Given the description of an element on the screen output the (x, y) to click on. 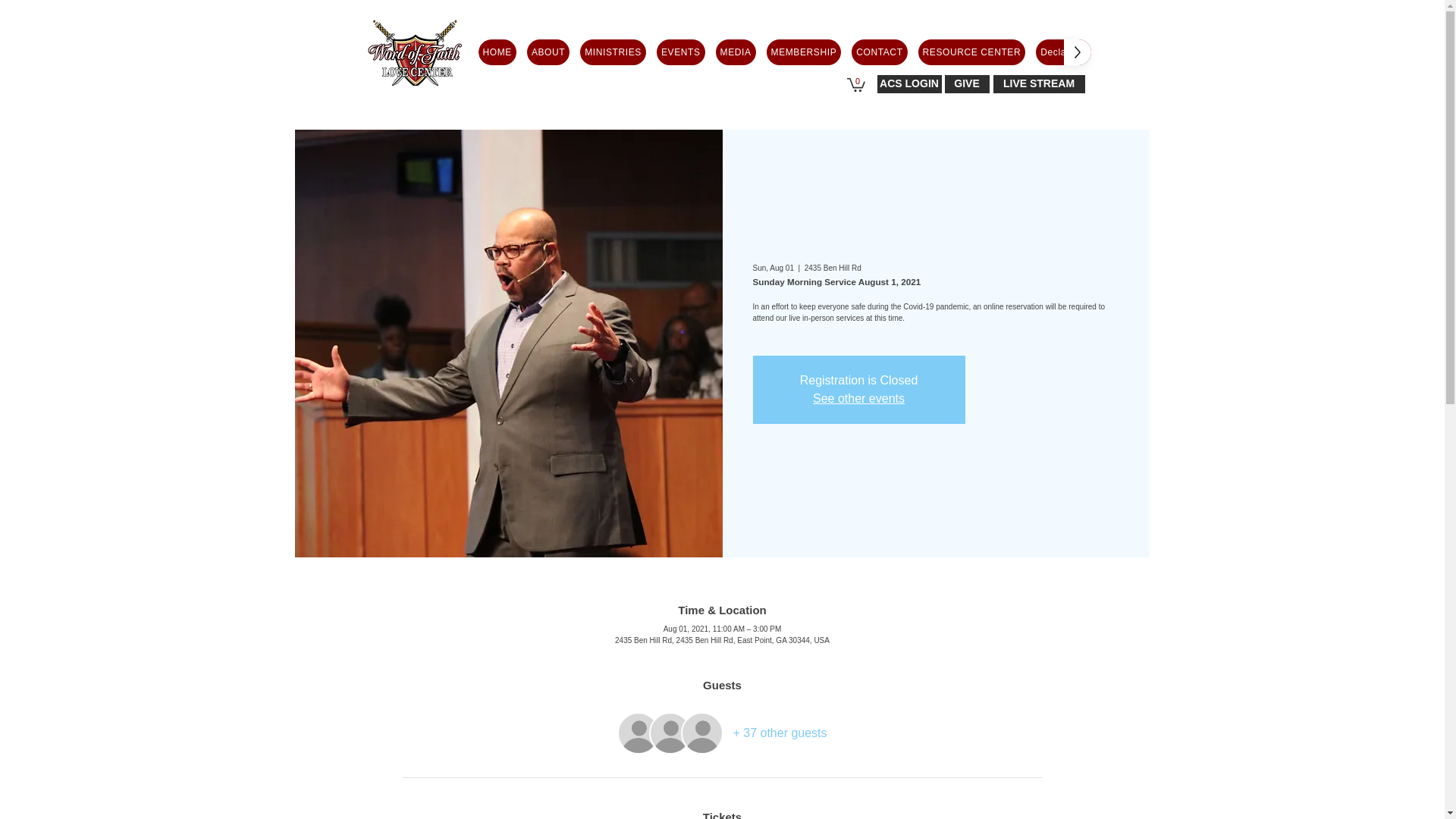
ABOUT (548, 52)
0 (854, 83)
HOME (496, 52)
